Given the description of an element on the screen output the (x, y) to click on. 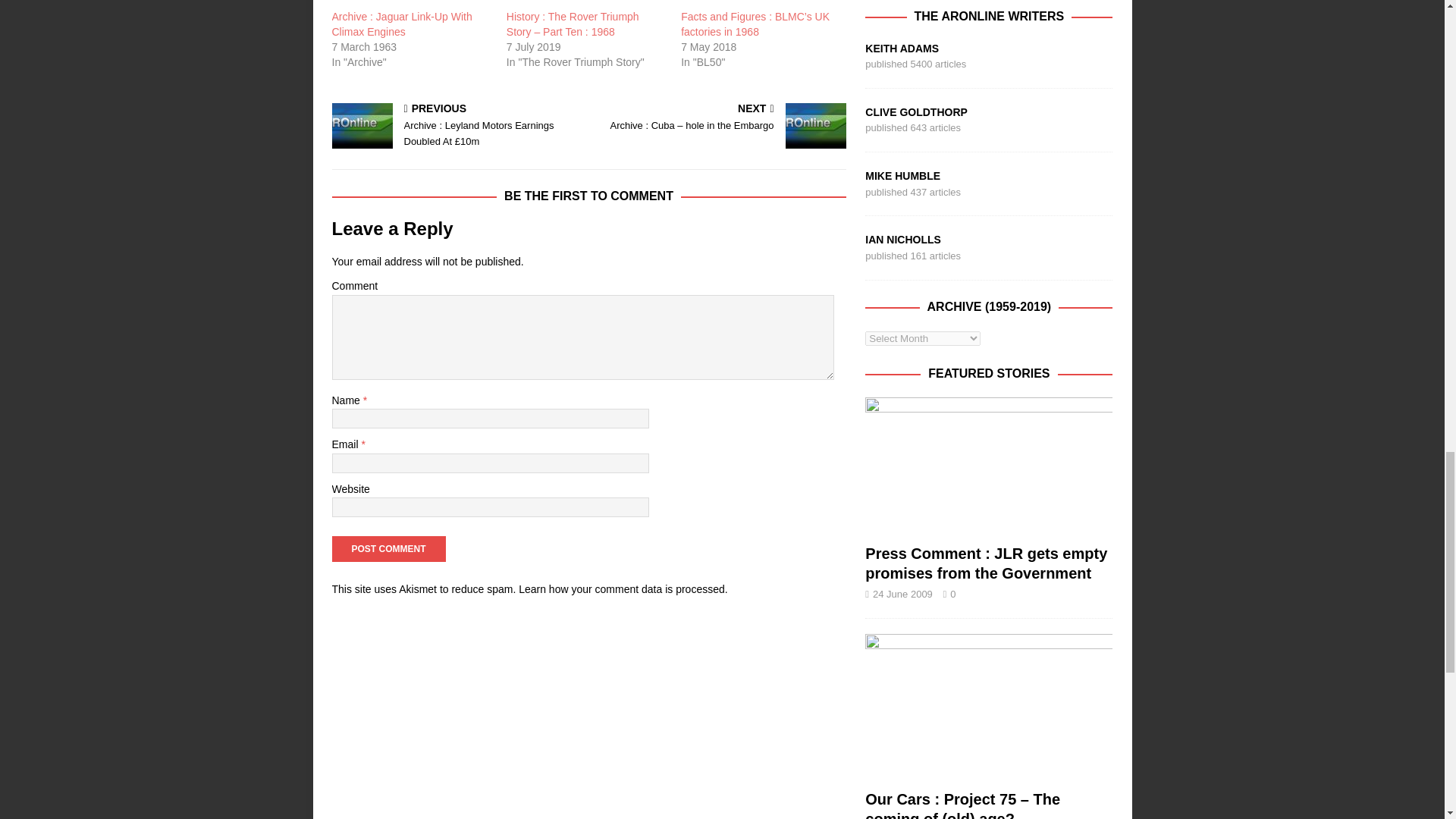
Archive : Jaguar Link-Up With Climax Engines (401, 23)
Post Comment (388, 548)
Archive : Jaguar Link-Up With Climax Engines (411, 4)
